Given the description of an element on the screen output the (x, y) to click on. 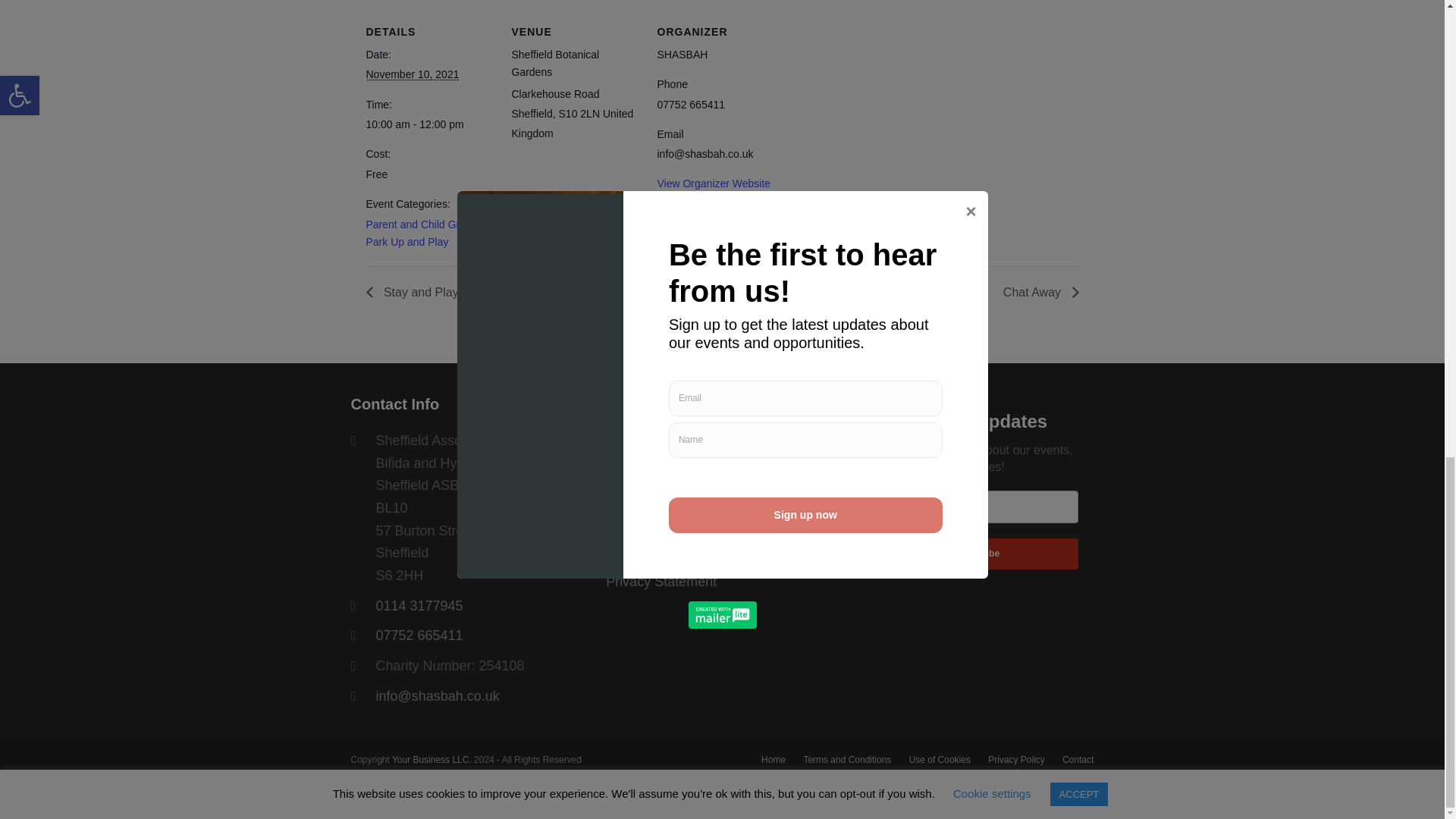
2021-11-10 (429, 124)
Instagram (646, 442)
2021-11-10 (411, 73)
Verified by MonsterInsights (722, 798)
Facebook (617, 442)
